Given the description of an element on the screen output the (x, y) to click on. 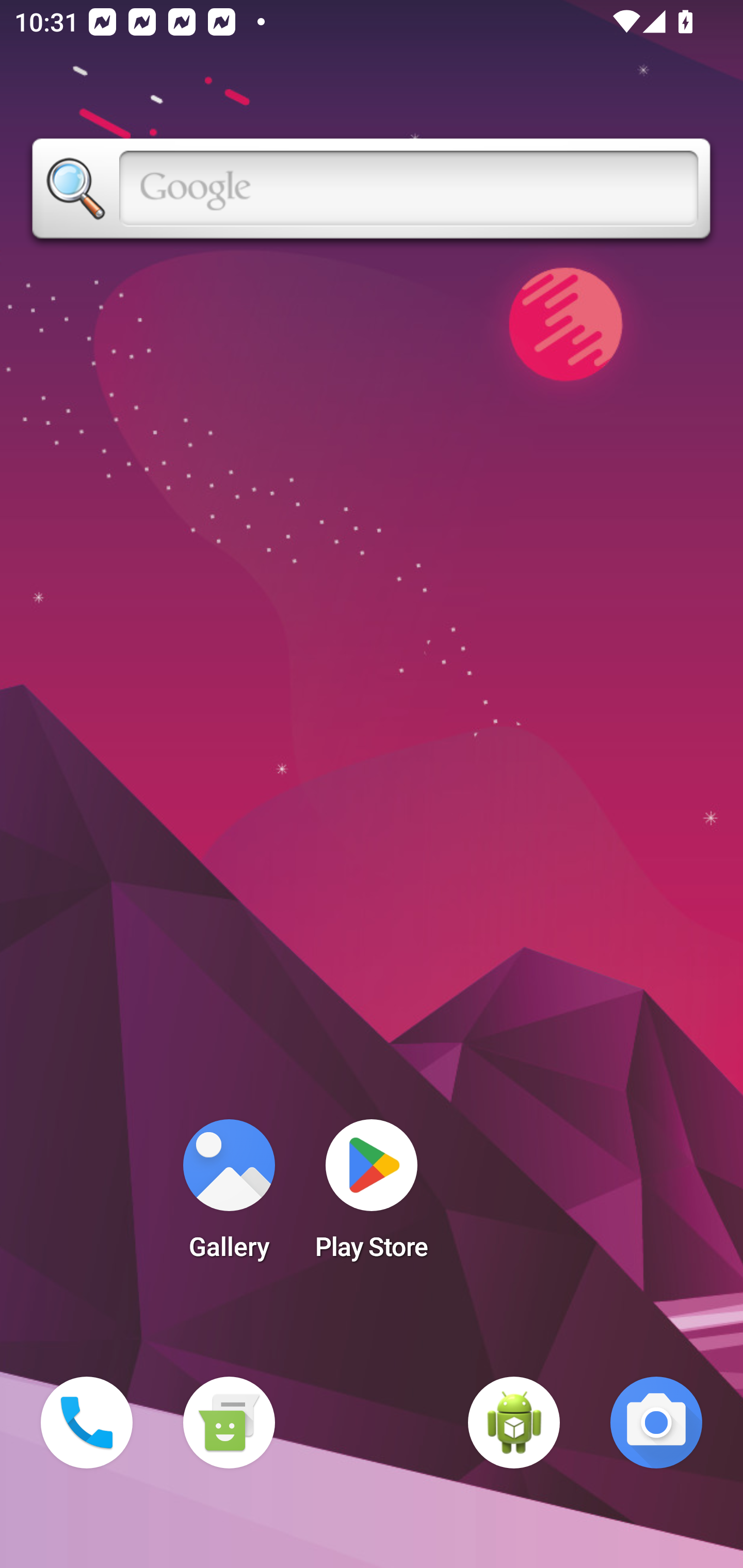
Gallery (228, 1195)
Play Store (371, 1195)
Phone (86, 1422)
Messaging (228, 1422)
WebView Browser Tester (513, 1422)
Camera (656, 1422)
